Given the description of an element on the screen output the (x, y) to click on. 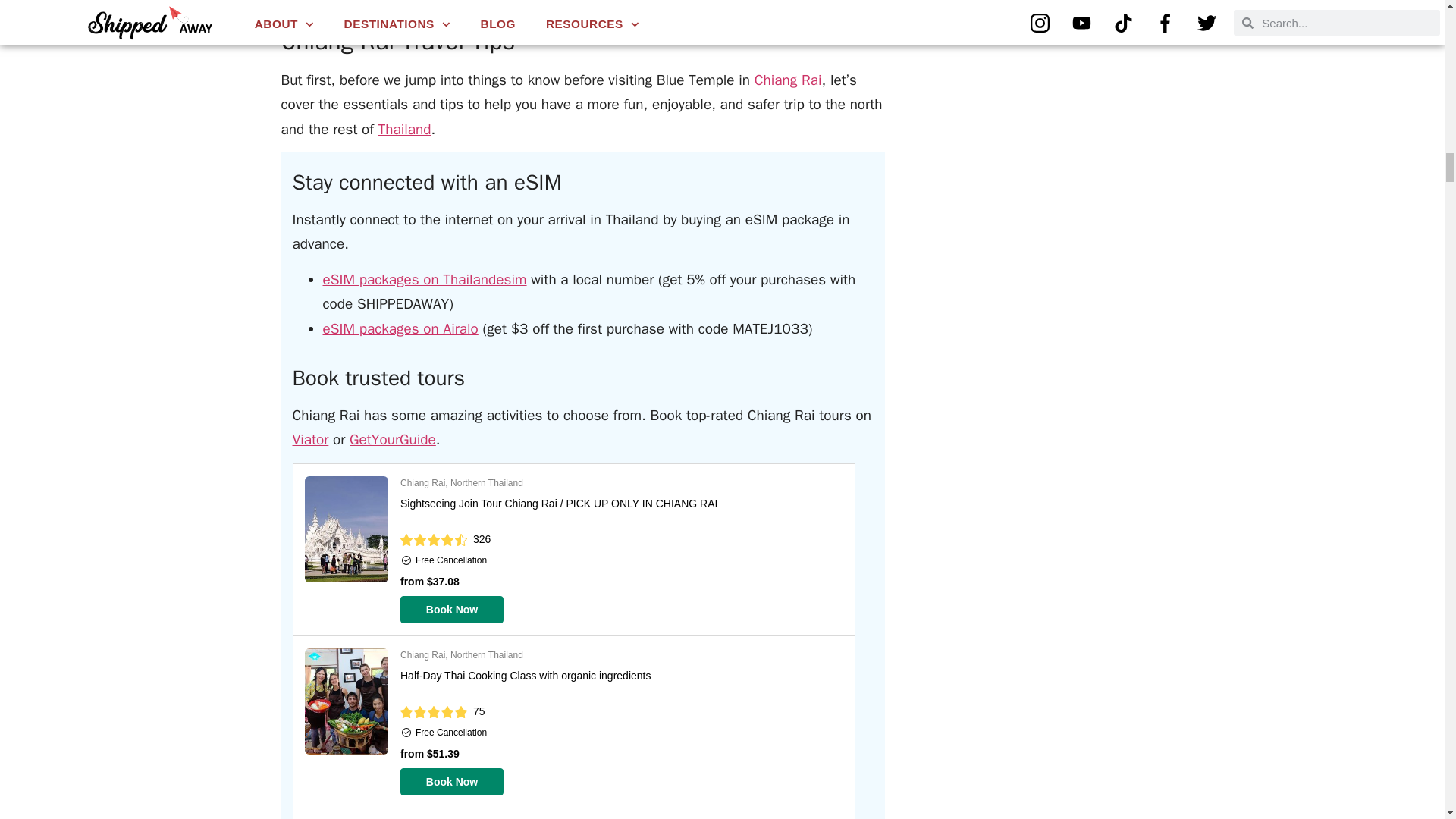
Chiang Rai GetYourGuide (392, 439)
eSIM Thailand Airalo (401, 329)
Chiang Rai Viator (310, 439)
Thailand eSIM (425, 280)
